Given the description of an element on the screen output the (x, y) to click on. 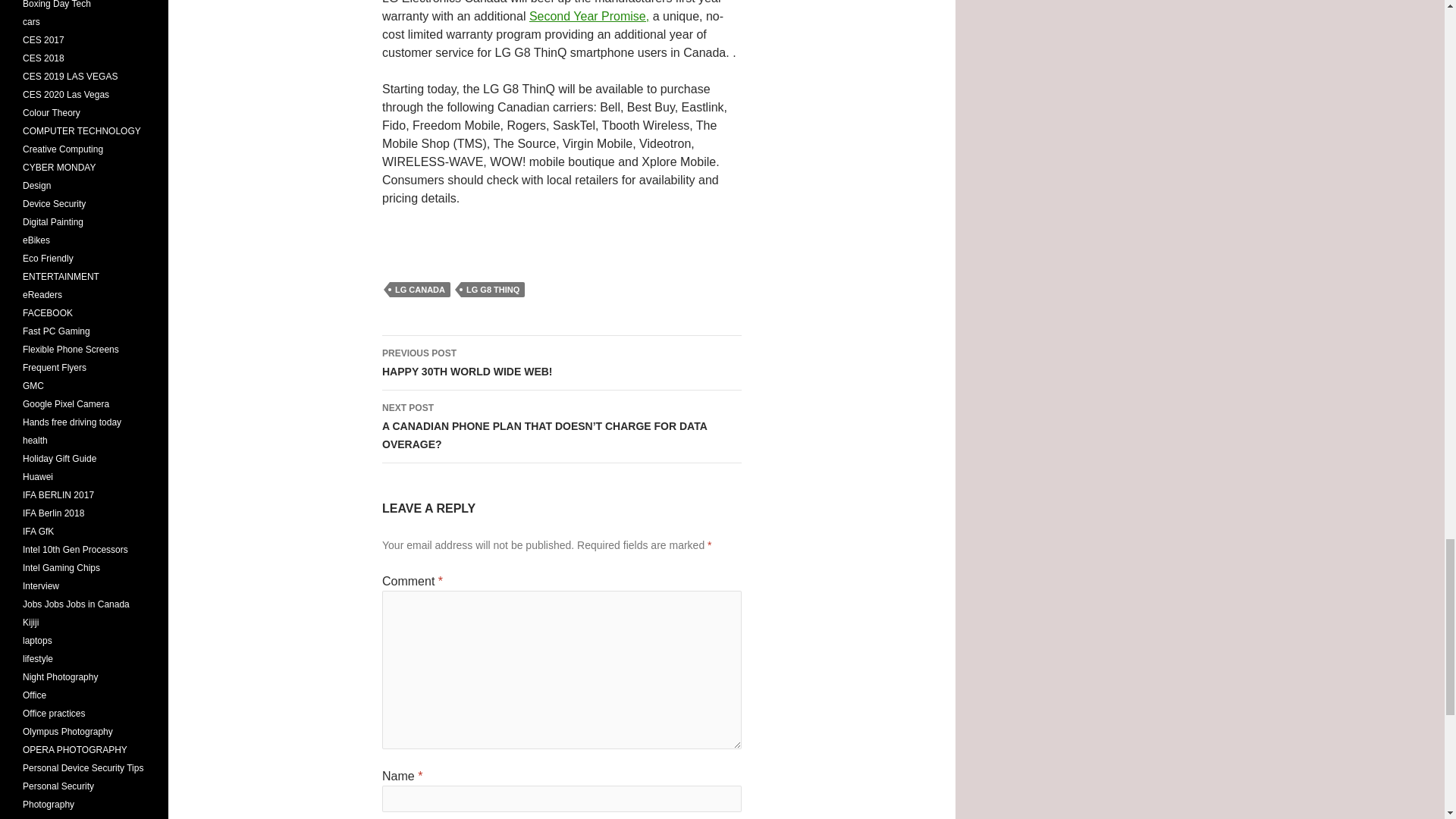
LG CANADA (419, 289)
LG G8 THINQ (492, 289)
Second Year Promise, (561, 362)
